Given the description of an element on the screen output the (x, y) to click on. 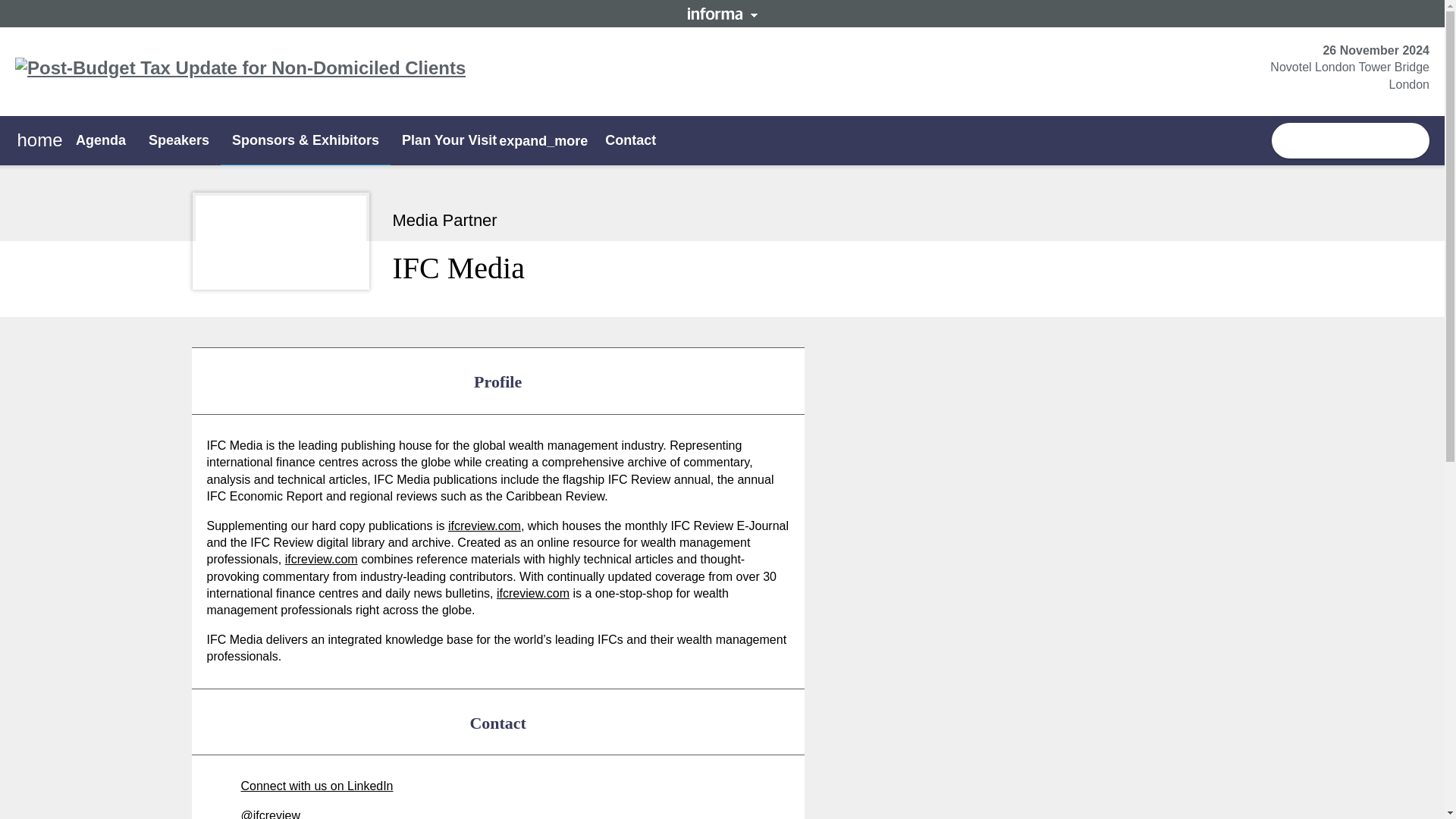
Contact (630, 140)
Book Now (1350, 140)
home (39, 140)
ifcreview.com (532, 593)
Connect with us on LinkedIn (299, 785)
ifcreview.com (321, 558)
Agenda (100, 140)
ifcreview.com (484, 525)
Speakers (178, 140)
